Given the description of an element on the screen output the (x, y) to click on. 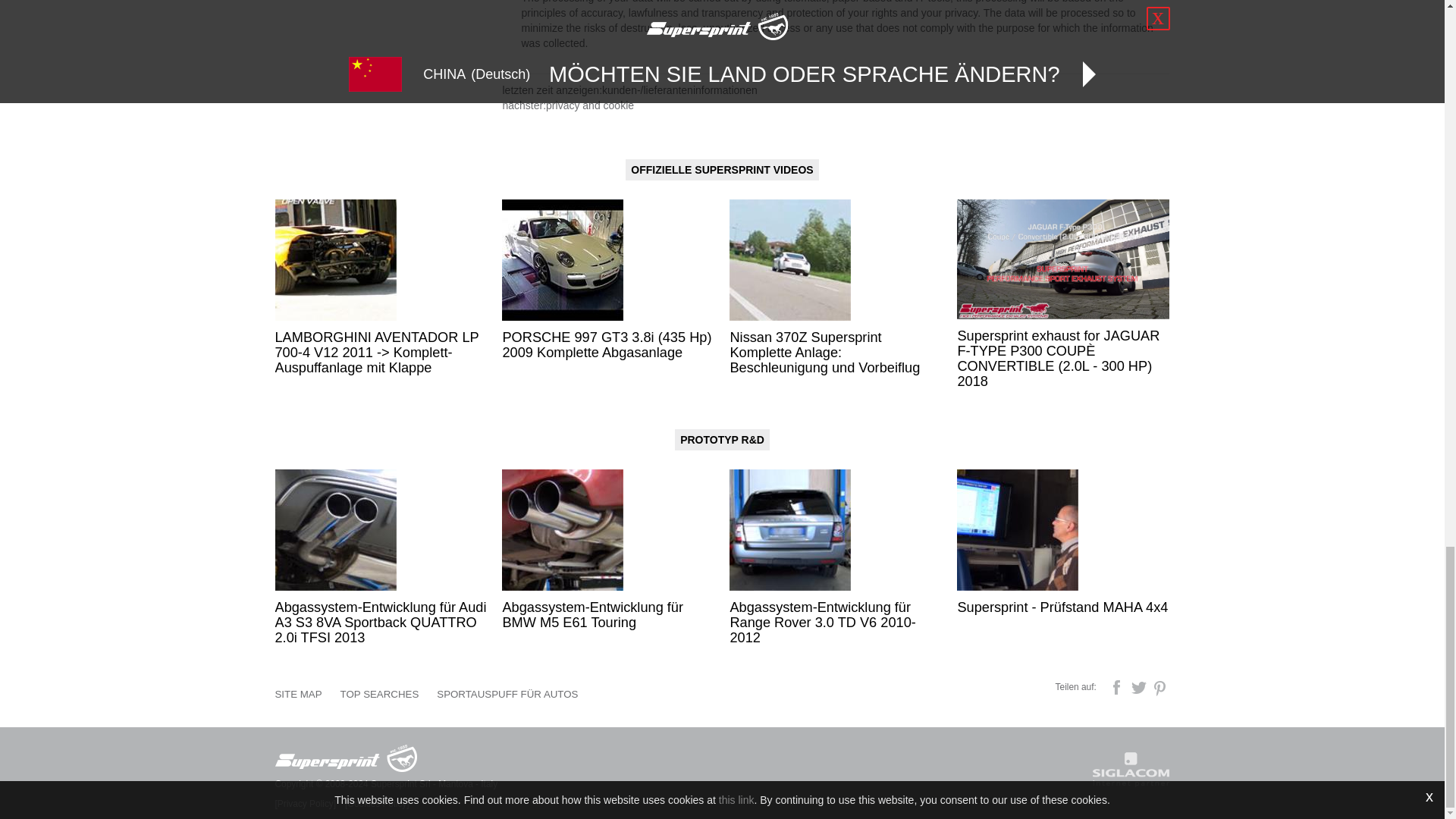
Teilen auf Facebook (1117, 686)
Sigla.com - Internet Partner (1131, 769)
Teilen auf Pinterest (1160, 686)
Teilen auf Twitter (1140, 686)
